Given the description of an element on the screen output the (x, y) to click on. 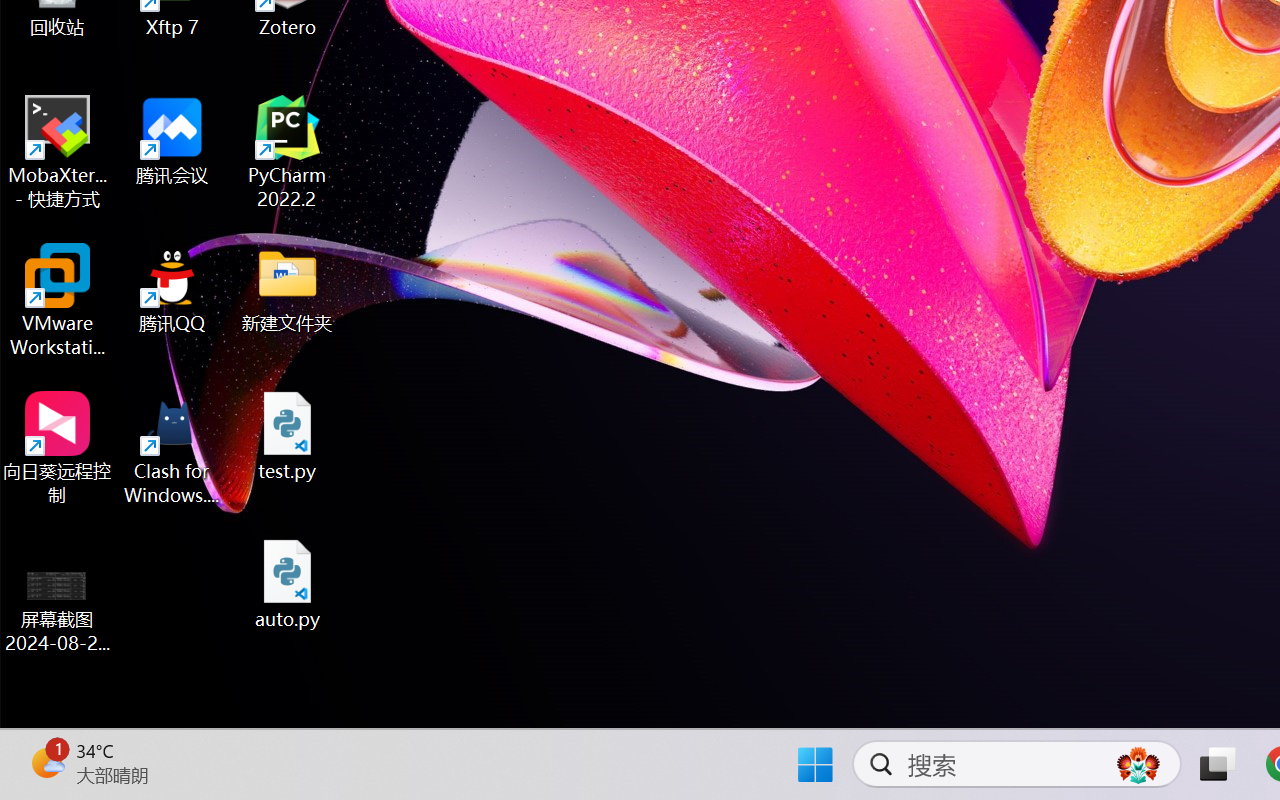
PyCharm 2022.2 (287, 152)
auto.py (287, 584)
VMware Workstation Pro (57, 300)
test.py (287, 436)
